Given the description of an element on the screen output the (x, y) to click on. 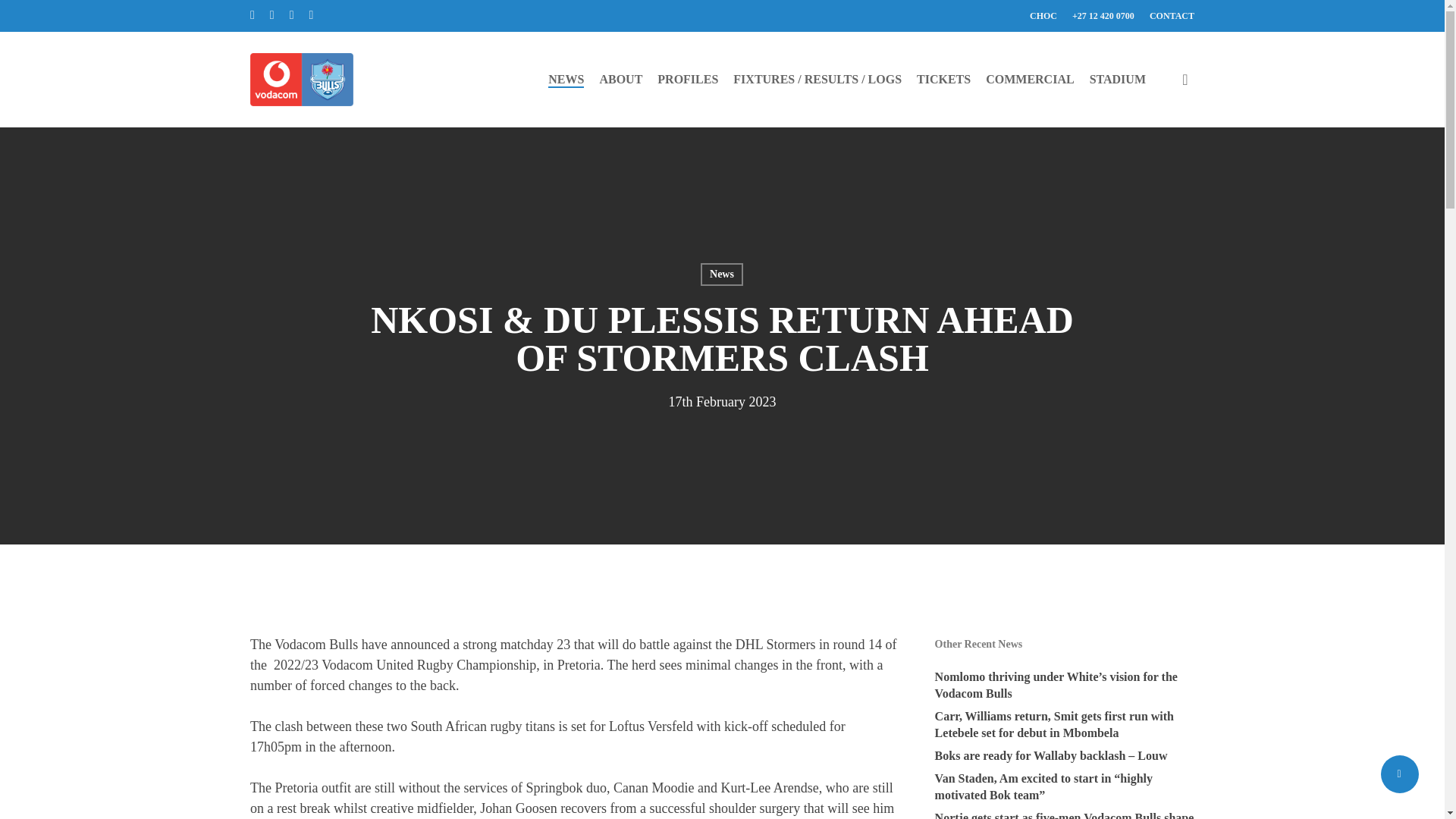
ABOUT (620, 79)
TICKETS (944, 79)
COMMERCIAL (1029, 79)
CHOC (1043, 15)
PROFILES (687, 79)
CONTACT (1171, 15)
NEWS (565, 79)
search (1184, 78)
STADIUM (1117, 79)
